Given the description of an element on the screen output the (x, y) to click on. 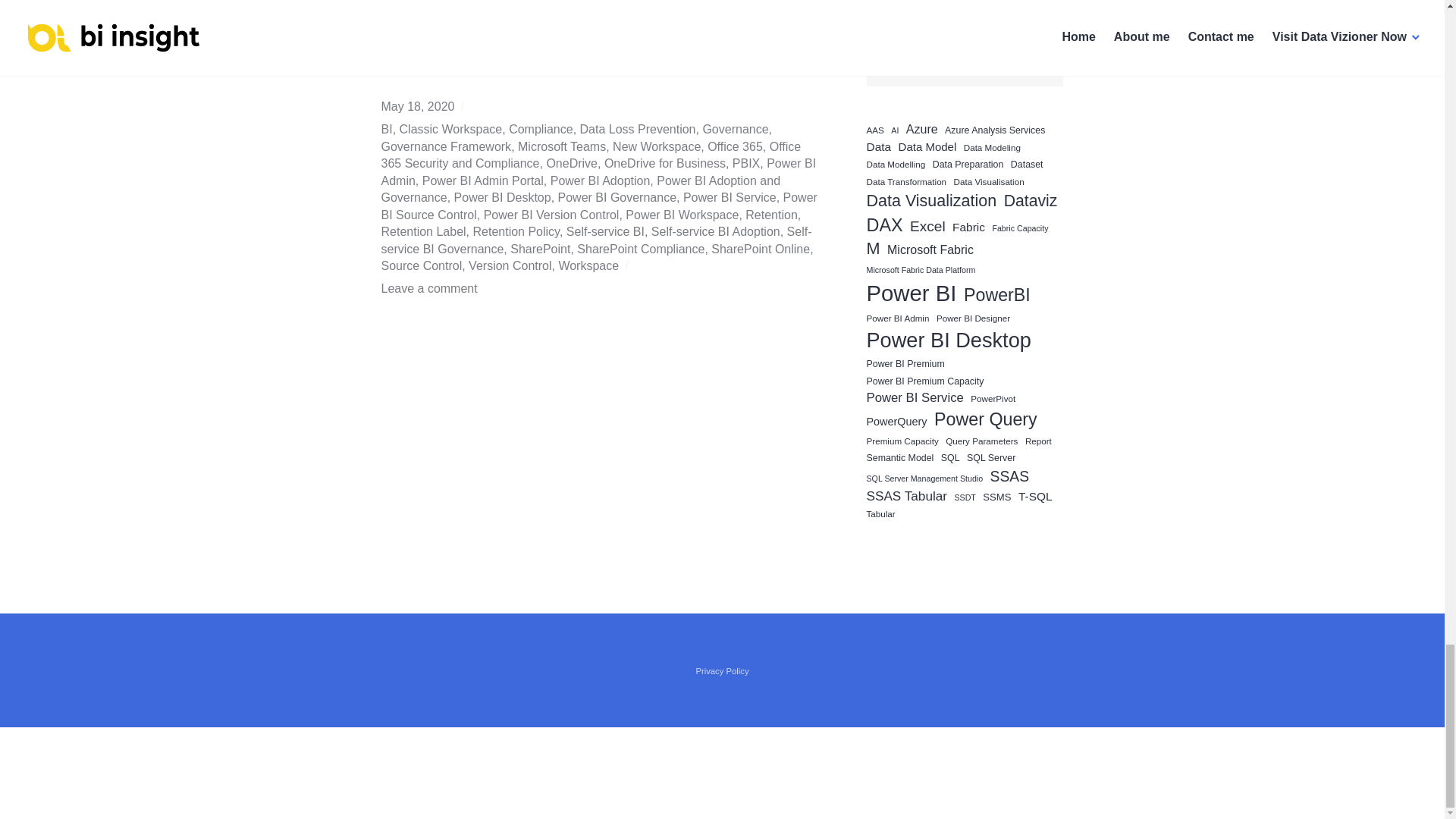
Data Loss Prevention (637, 128)
Governance (734, 128)
Microsoft Teams (561, 146)
Classic Workspace (450, 128)
New Workspace (656, 146)
Compliance (540, 128)
May 18, 2020 (417, 106)
Governance Framework (445, 146)
